Given the description of an element on the screen output the (x, y) to click on. 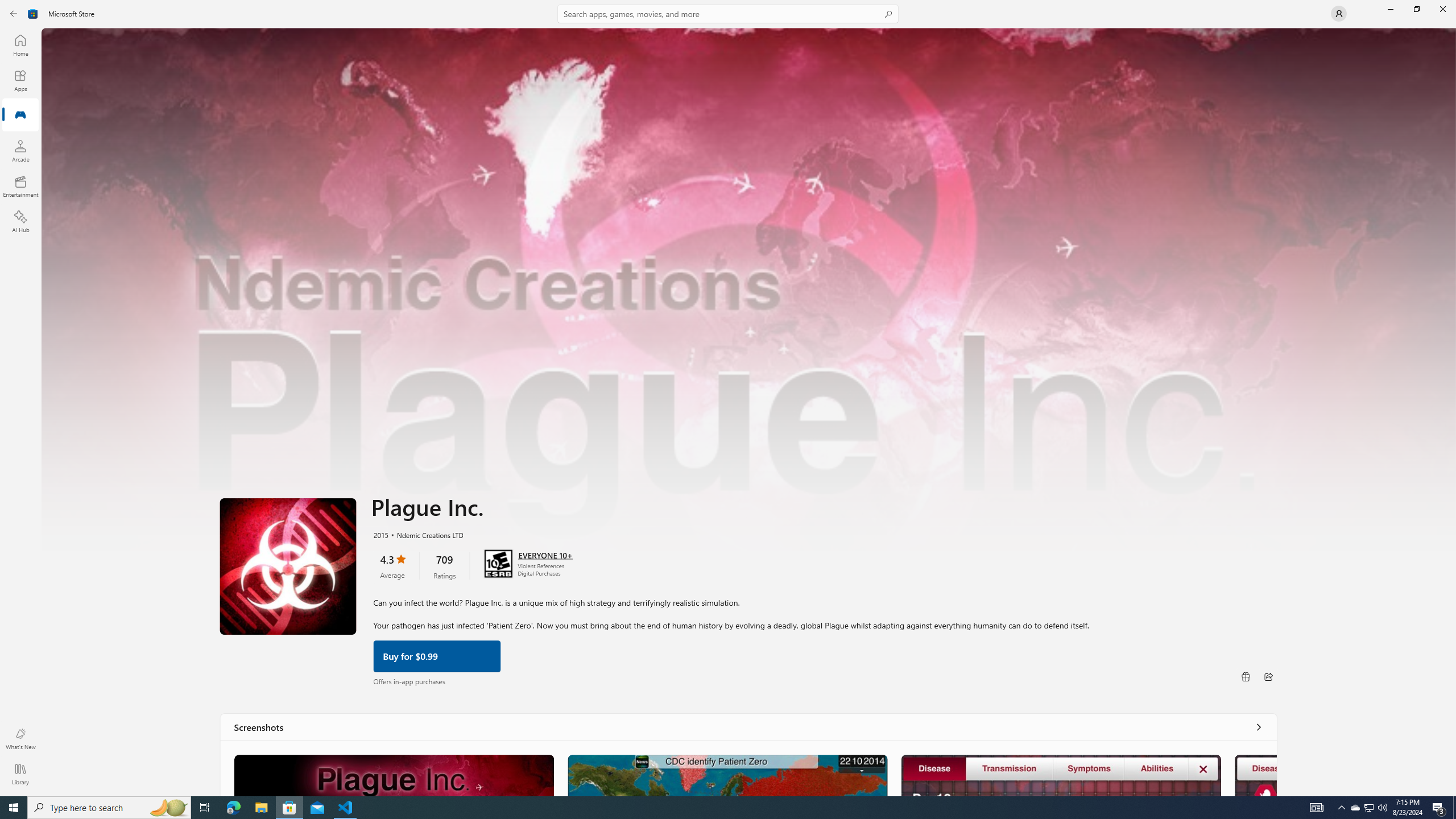
Buy (436, 655)
Close Microsoft Store (1442, 9)
2015 (379, 533)
Share (1267, 676)
Arcade (20, 150)
Screenshot 2 (726, 775)
See all (1258, 726)
Screenshot 4 (1255, 775)
Search (727, 13)
Screenshot 3 (1060, 775)
Library (20, 773)
Home (20, 45)
Entertainment (20, 185)
Minimize Microsoft Store (1390, 9)
Screenshot 1 (393, 775)
